Given the description of an element on the screen output the (x, y) to click on. 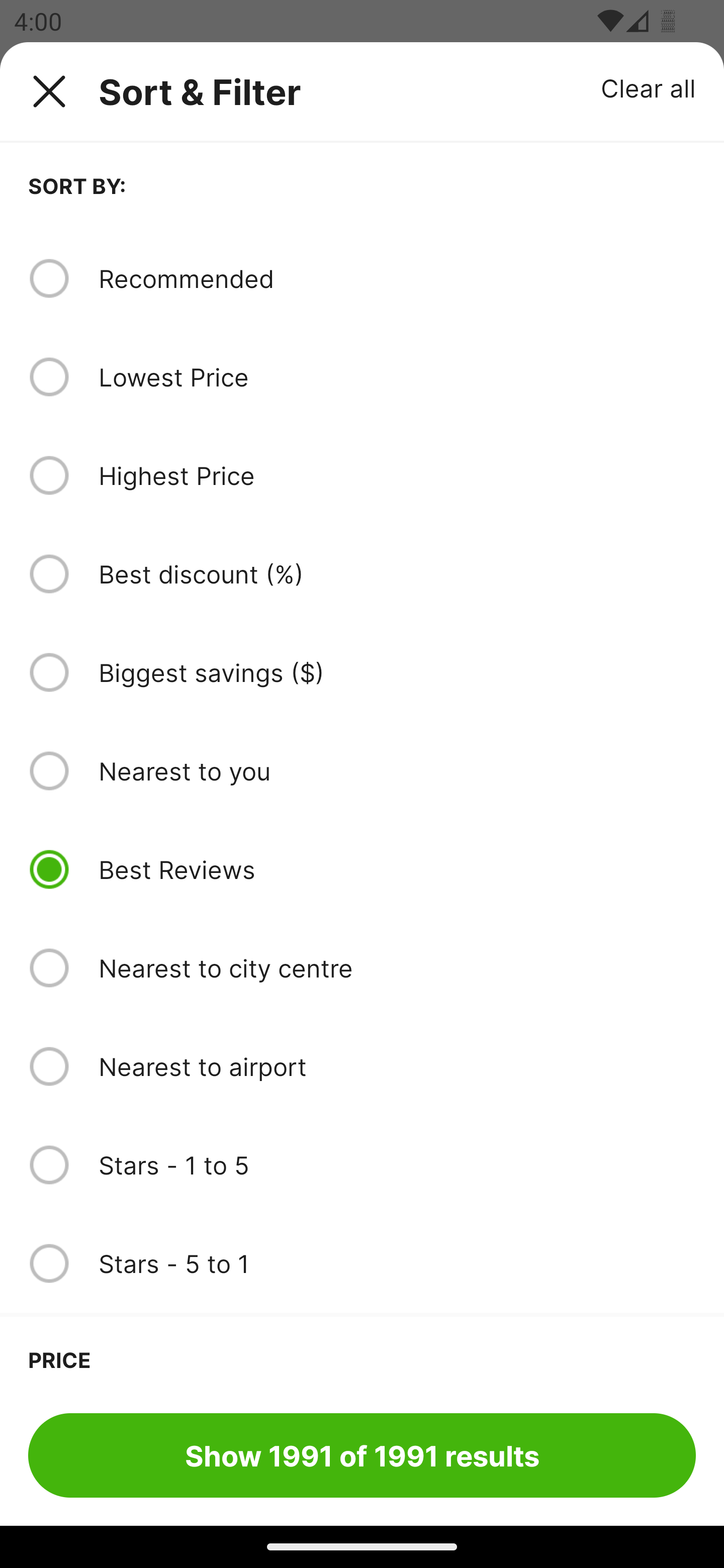
Clear all (648, 87)
Recommended  (396, 278)
Lowest Price (396, 377)
Highest Price (396, 474)
Best discount (%) (396, 573)
Biggest savings ($) (396, 672)
Nearest to you (396, 770)
Best Reviews (396, 869)
Nearest to city centre (396, 968)
Nearest to airport (396, 1065)
Stars - 1 to 5 (396, 1164)
Stars - 5 to 1 (396, 1263)
Show 1991 of 1991 results (361, 1454)
